Given the description of an element on the screen output the (x, y) to click on. 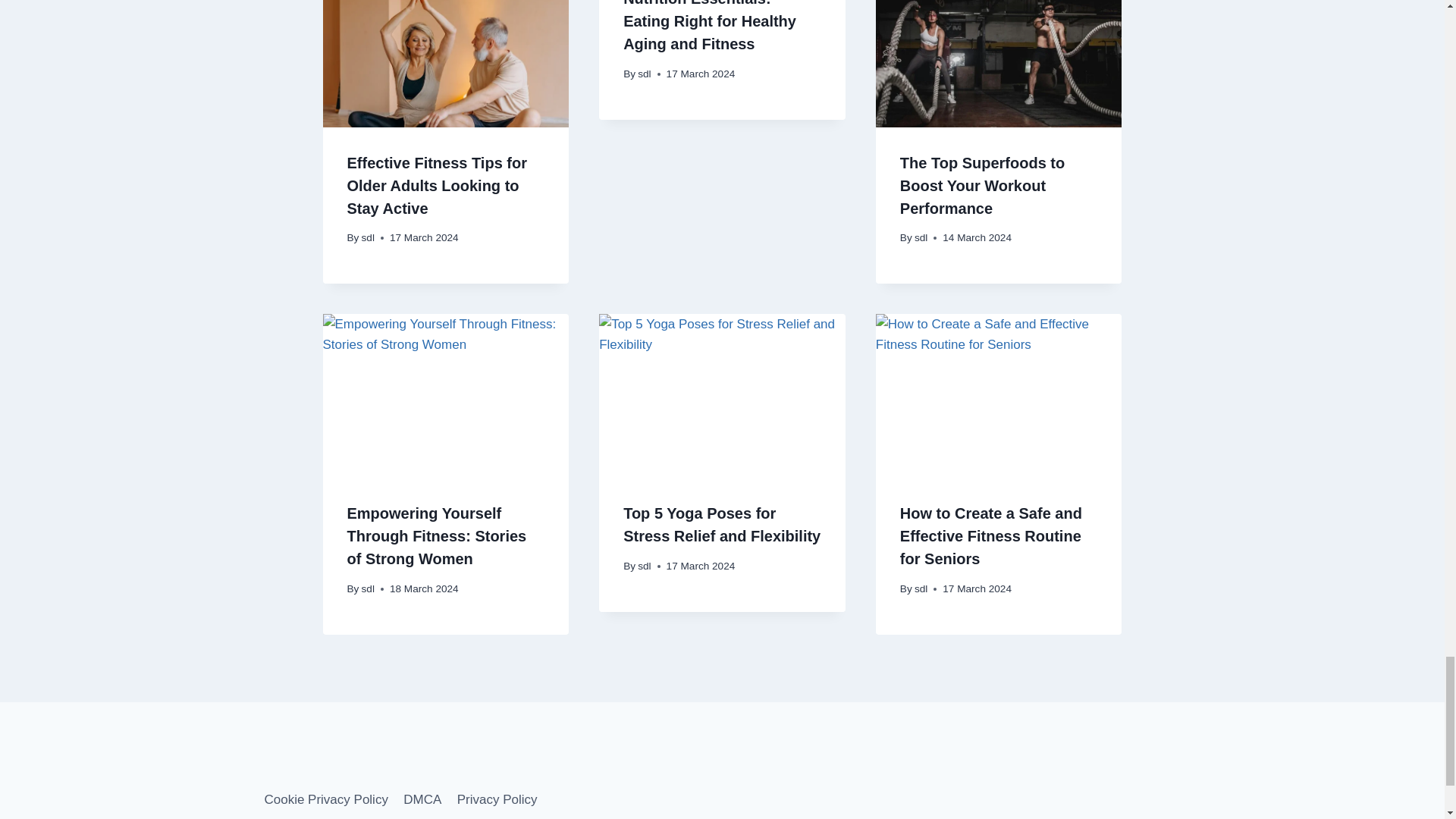
Empowering Yourself Through Fitness: Stories of Strong Women (437, 536)
sdl (920, 237)
The Top Superfoods to Boost Your Workout Performance (981, 185)
sdl (367, 237)
sdl (643, 73)
